Given the description of an element on the screen output the (x, y) to click on. 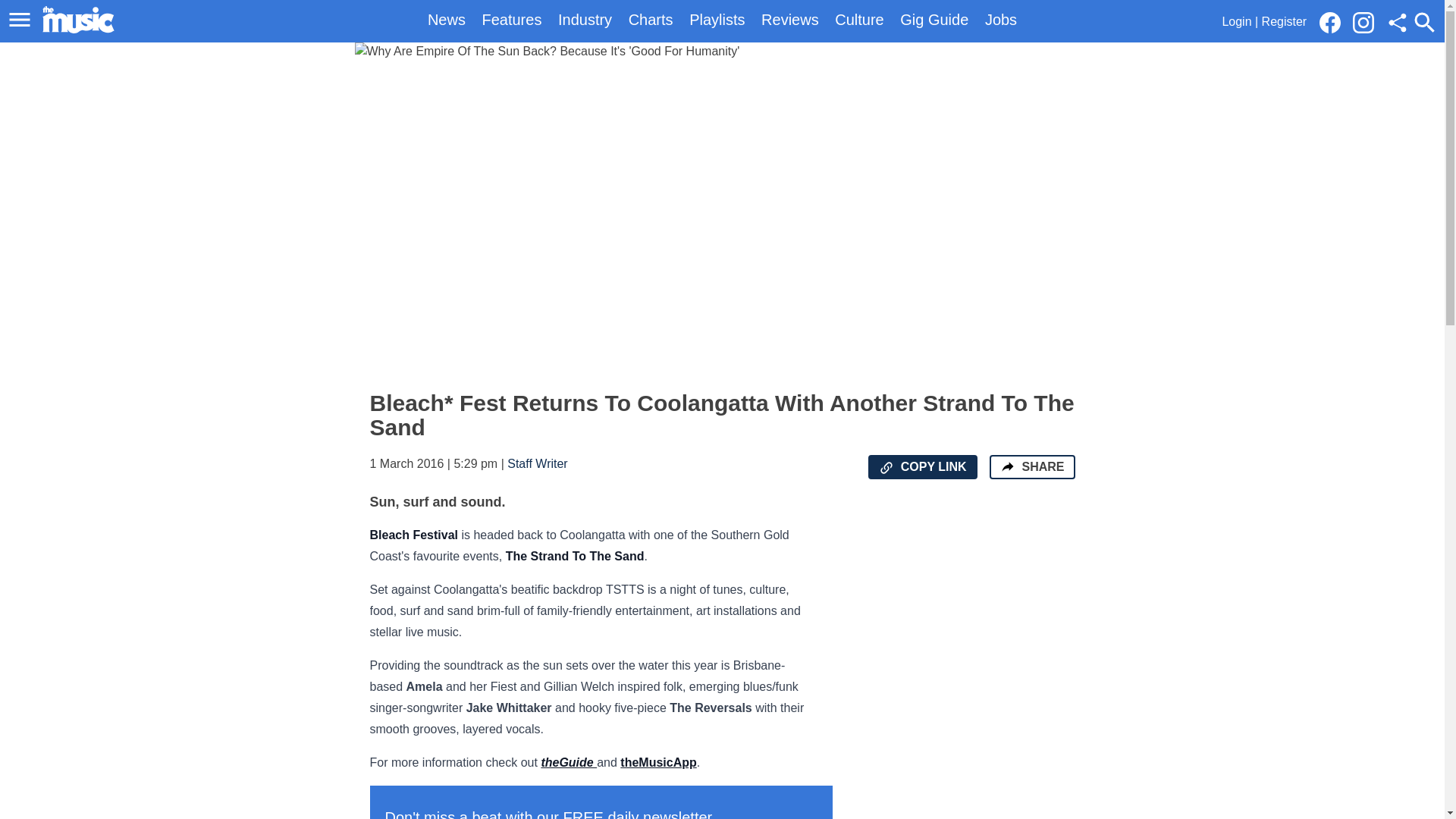
Link to our Facebook (1334, 21)
Link to our Instagram (1363, 22)
Link to our Facebook (1329, 22)
Industry (584, 19)
Open the main menu (19, 19)
theMusicApp (657, 762)
Jobs (1000, 19)
Copy the page URL COPY LINK (921, 467)
Staff Writer (536, 463)
Open the site search menu (1424, 22)
Copy the page URL (886, 467)
Link to our Instagram (1367, 21)
Reviews (789, 19)
Charts (650, 19)
Login (1235, 21)
